Given the description of an element on the screen output the (x, y) to click on. 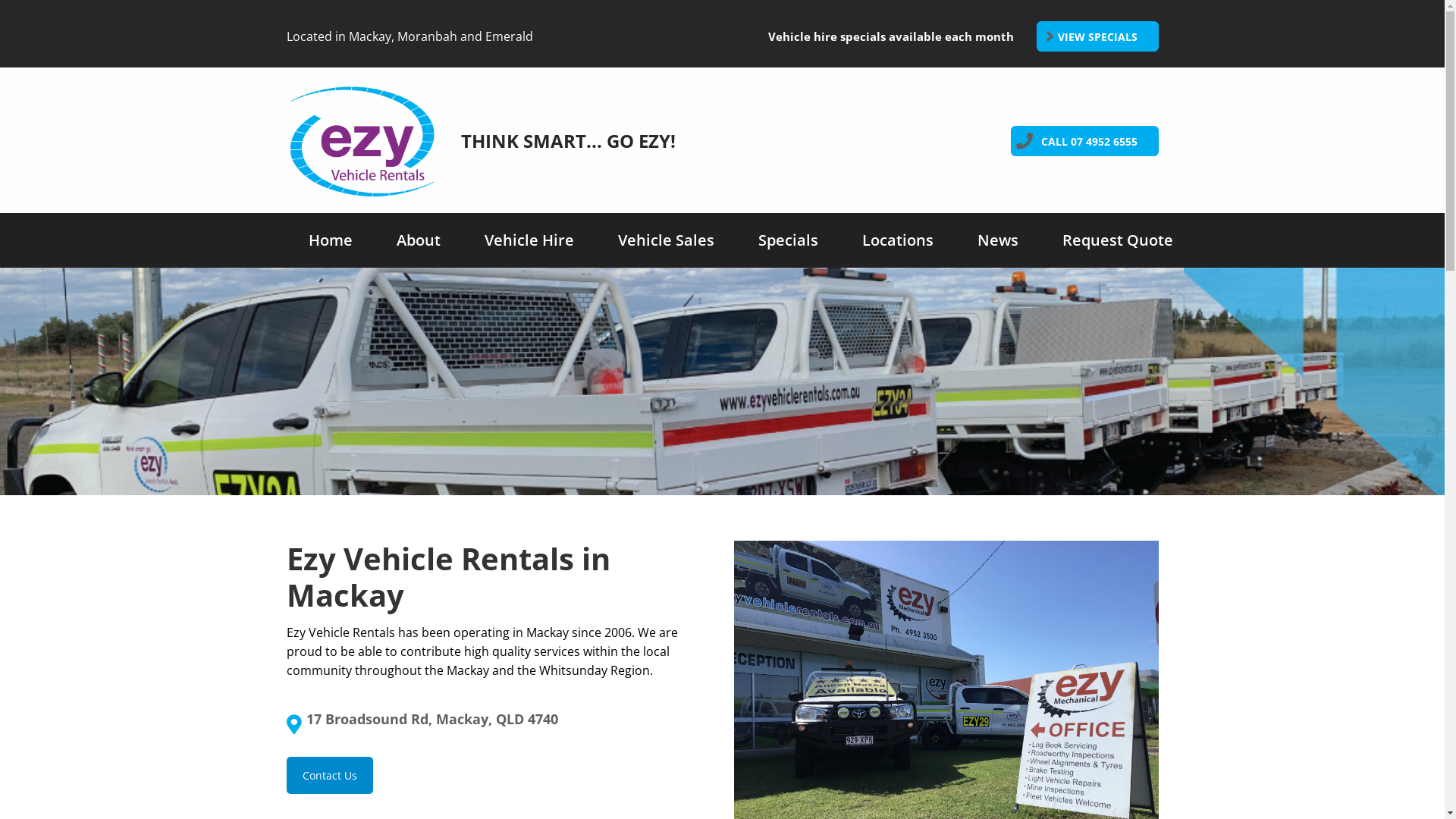
Specials Element type: text (787, 240)
VIEW SPECIALS Element type: text (1096, 36)
Home Element type: text (330, 240)
News Element type: text (997, 240)
Request Quote Element type: text (1117, 240)
   CALL 07 4952 6555 Element type: text (1083, 140)
Contact Us Element type: text (329, 774)
About Element type: text (418, 240)
Vehicle Hire Element type: text (529, 240)
Locations Element type: text (897, 240)
Vehicle Sales Element type: text (666, 240)
